Given the description of an element on the screen output the (x, y) to click on. 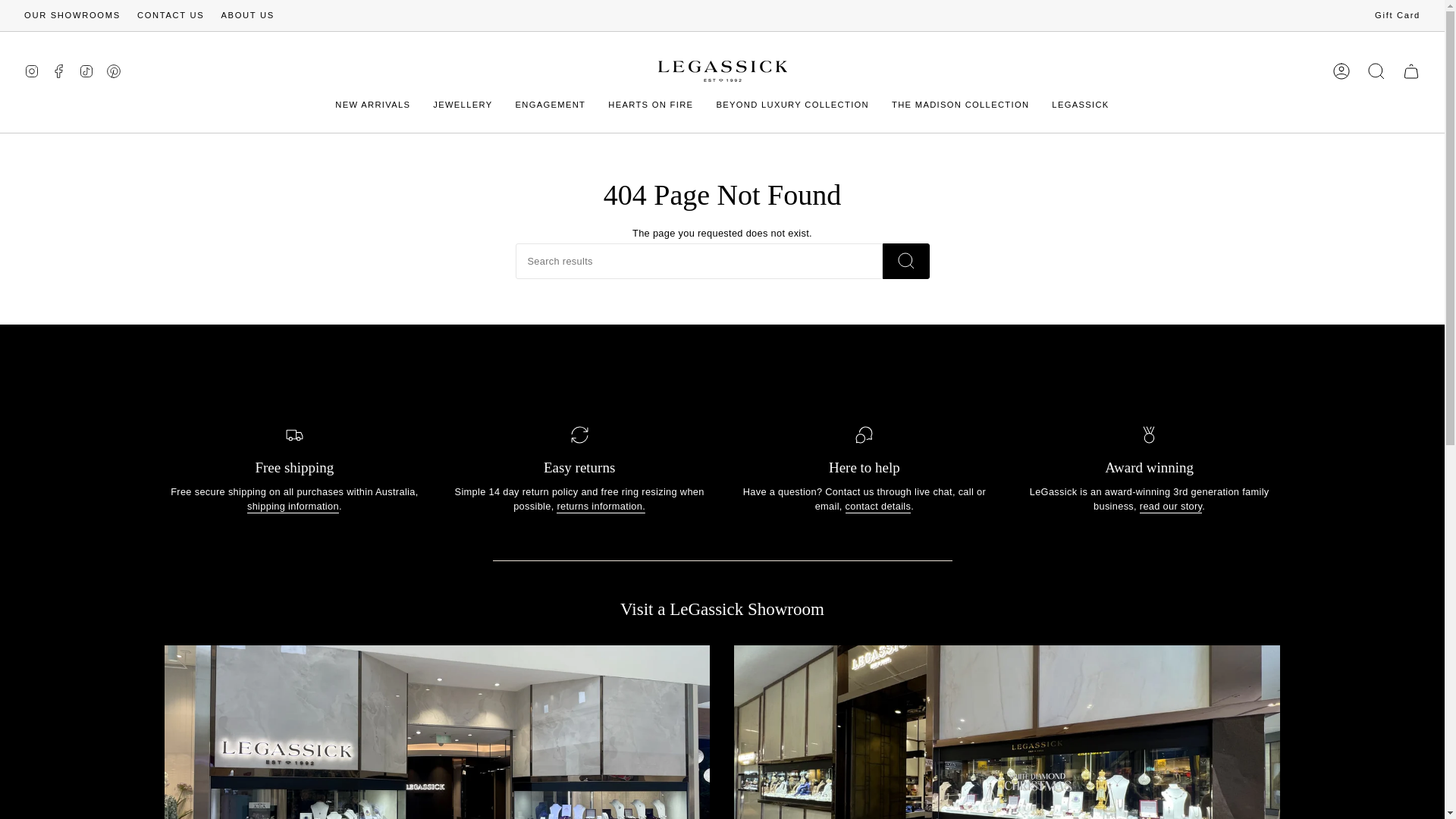
My Account (1340, 71)
OUR SHOWROOMS (72, 15)
Gift Card (1397, 14)
TikTok (86, 70)
CART (1410, 71)
LeGassick Jewellery on Facebook (58, 70)
Instagram (31, 70)
Pinterest (113, 70)
LeGassick Jewellery on Pinterest (113, 70)
LeGassick Jewellery on Instagram (31, 70)
CONTACT US (170, 15)
JEWELLERY (462, 104)
Search (1375, 71)
LeGassick Jewellery on TikTok (86, 70)
Facebook (58, 70)
